Given the description of an element on the screen output the (x, y) to click on. 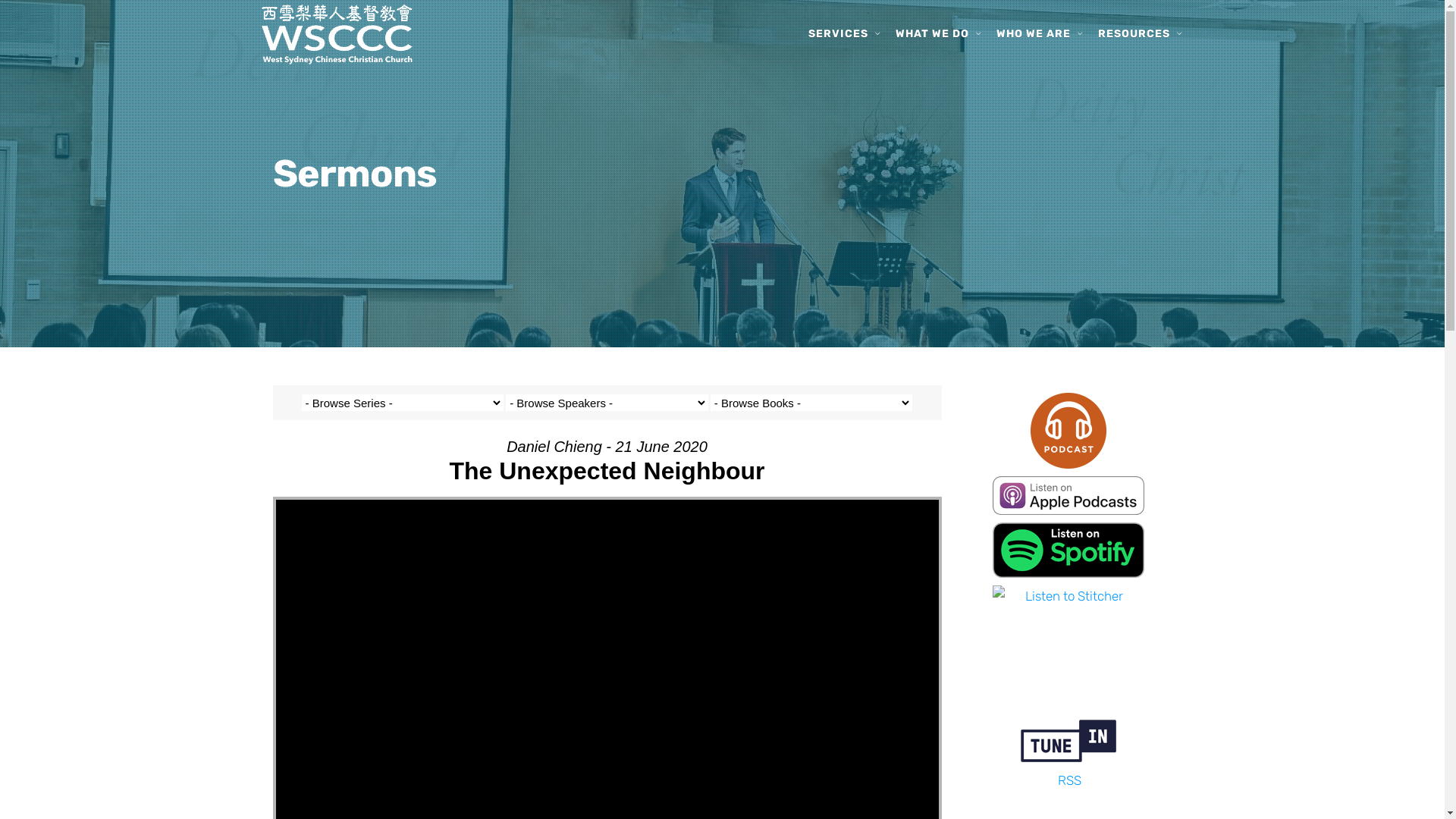
RSS Element type: text (1069, 779)
WHAT WE DO Element type: text (931, 33)
RESOURCES Element type: text (1133, 33)
WHO WE ARE Element type: text (1033, 33)
Podcast-Icon-01-01 Element type: hover (1067, 430)
SERVICES Element type: text (837, 33)
